Given the description of an element on the screen output the (x, y) to click on. 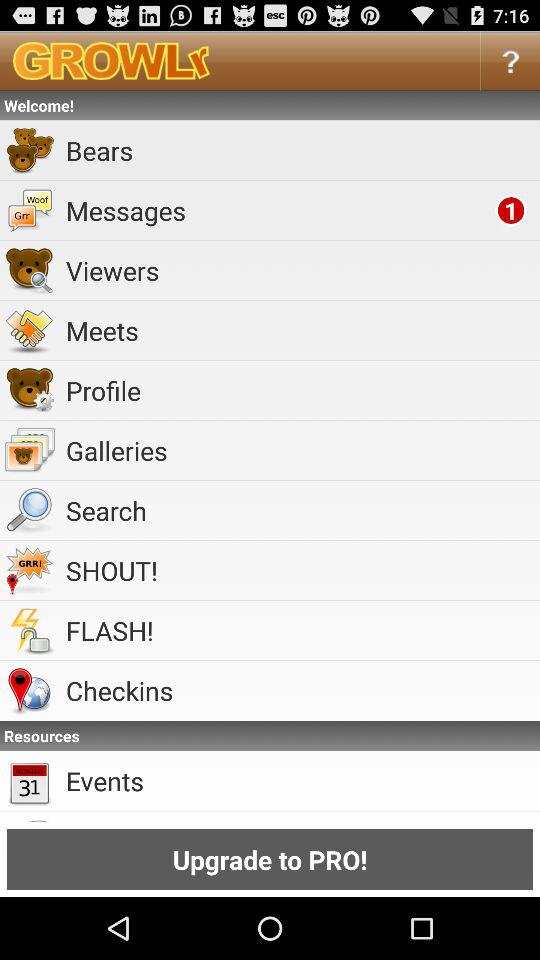
press item below the messages item (299, 270)
